Given the description of an element on the screen output the (x, y) to click on. 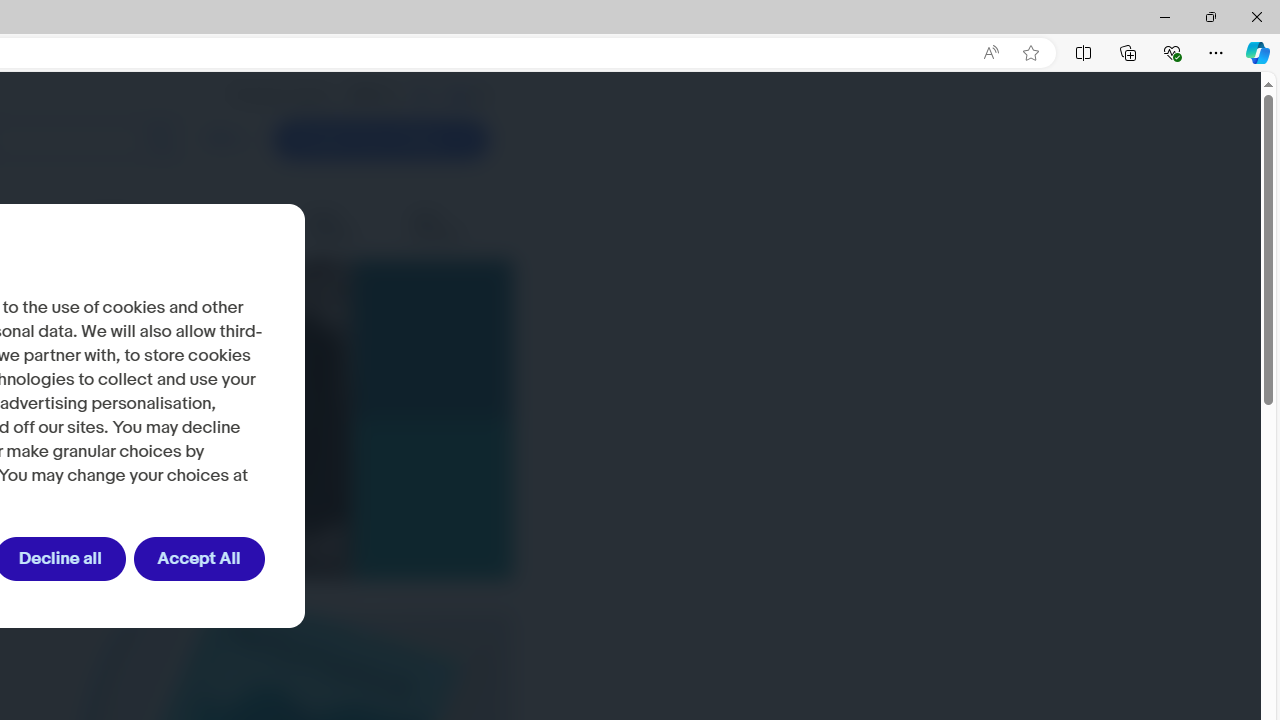
SEA (459, 95)
Class: btn__arrow (461, 139)
Class: search-input__icon (160, 139)
Regulations & policies (132, 225)
eBay Partners (450, 225)
